Given the description of an element on the screen output the (x, y) to click on. 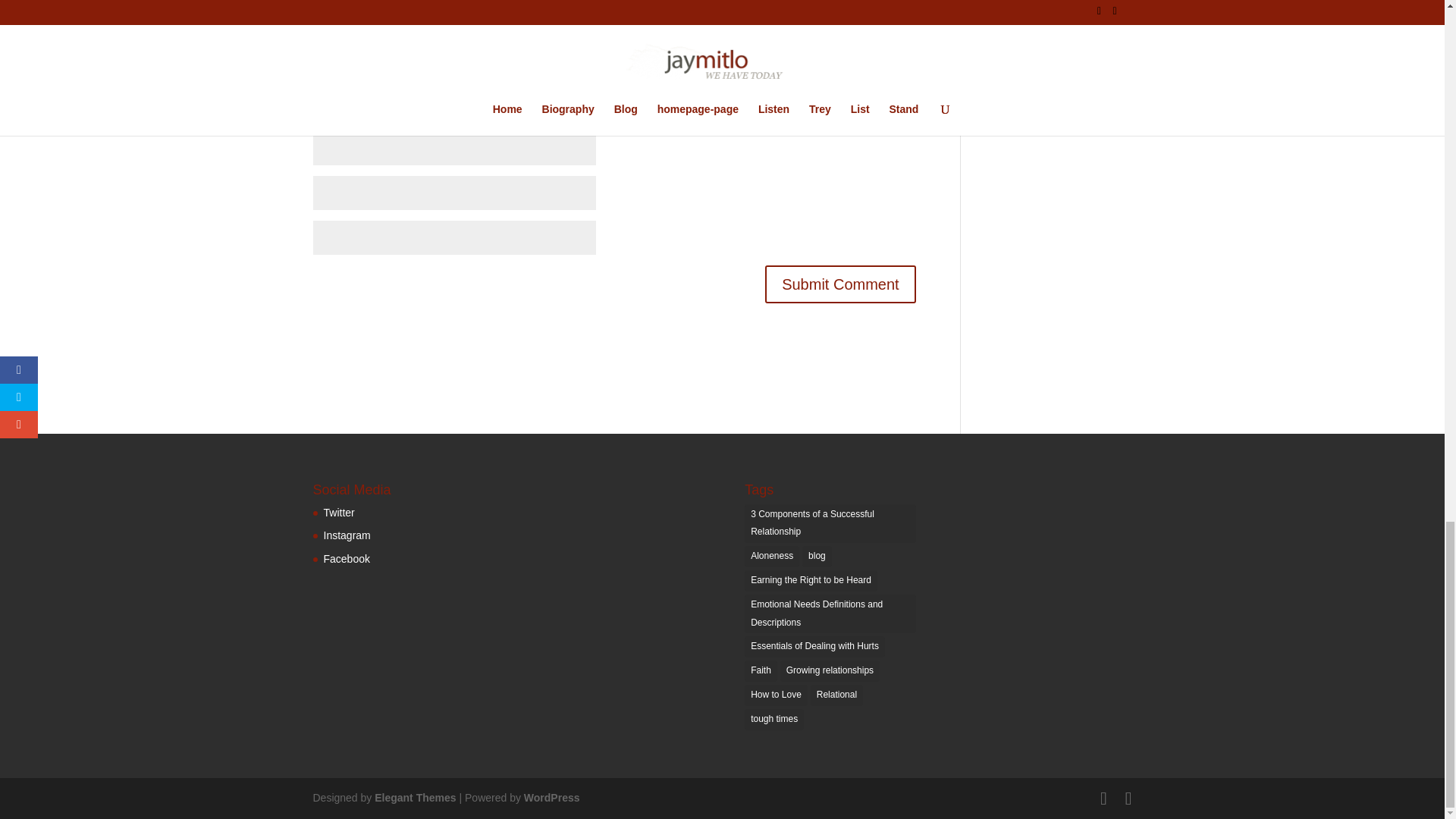
Relational (836, 694)
Essentials of Dealing with Hurts (814, 646)
3 Components of a Successful Relationship (829, 523)
tough times (773, 719)
Instagram (346, 535)
Twitter (338, 512)
Submit Comment (840, 284)
Growing relationships (829, 670)
blog (816, 556)
Facebook (346, 558)
Emotional Needs Definitions and Descriptions (829, 613)
Premium WordPress Themes (414, 797)
How to Love (776, 694)
Submit Comment (840, 284)
Aloneness (771, 556)
